Given the description of an element on the screen output the (x, y) to click on. 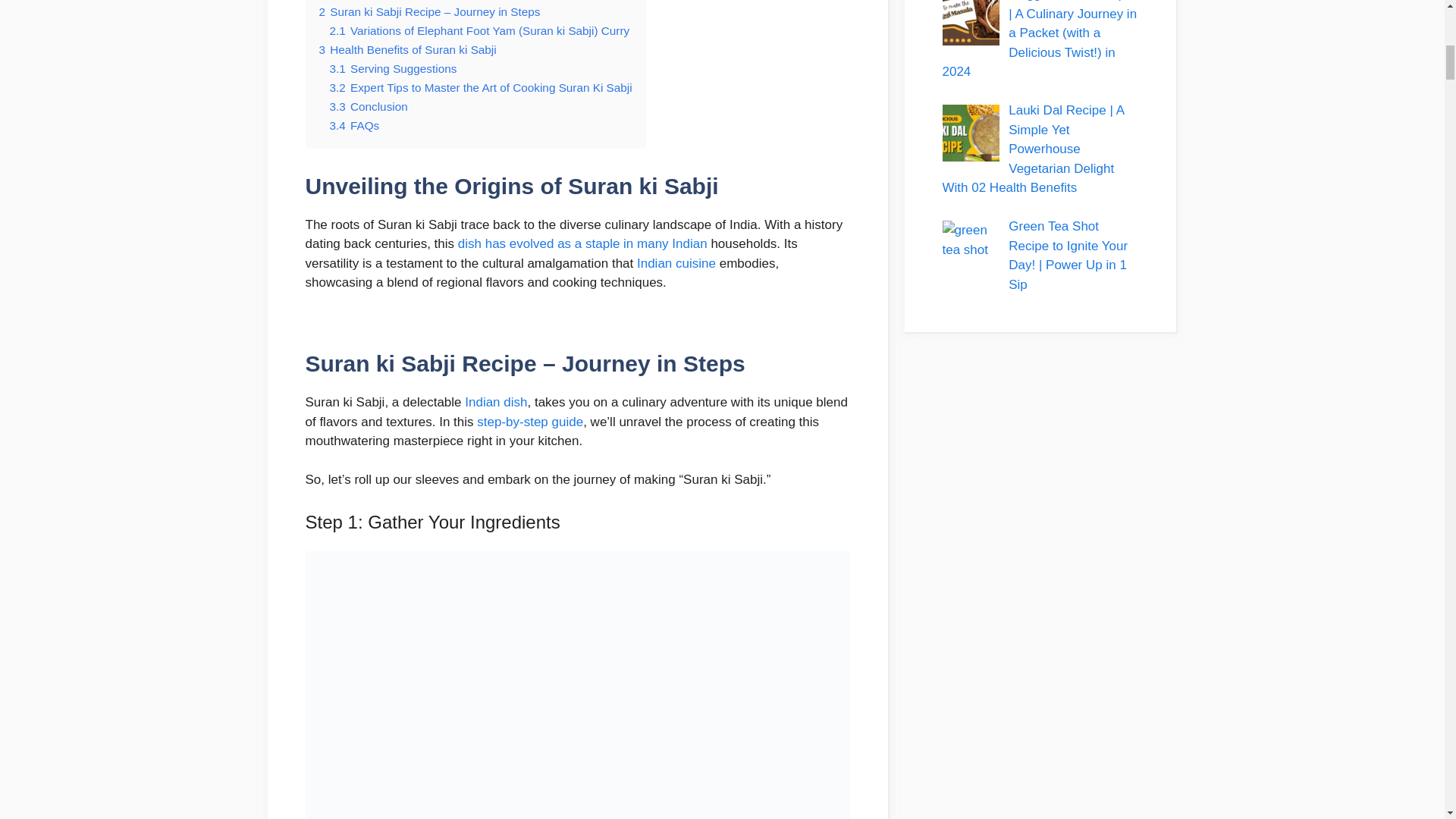
3.4 FAQs (353, 124)
3.3 Conclusion (368, 106)
step-by-step guide (530, 421)
3 Health Benefits of Suran ki Sabji (407, 49)
3.2 Expert Tips to Master the Art of Cooking Suran Ki Sabji (480, 87)
Indian dish (495, 401)
Indian cuisine (676, 263)
dish has evolved as a staple in many Indian (582, 243)
3.1 Serving Suggestions (393, 68)
